Given the description of an element on the screen output the (x, y) to click on. 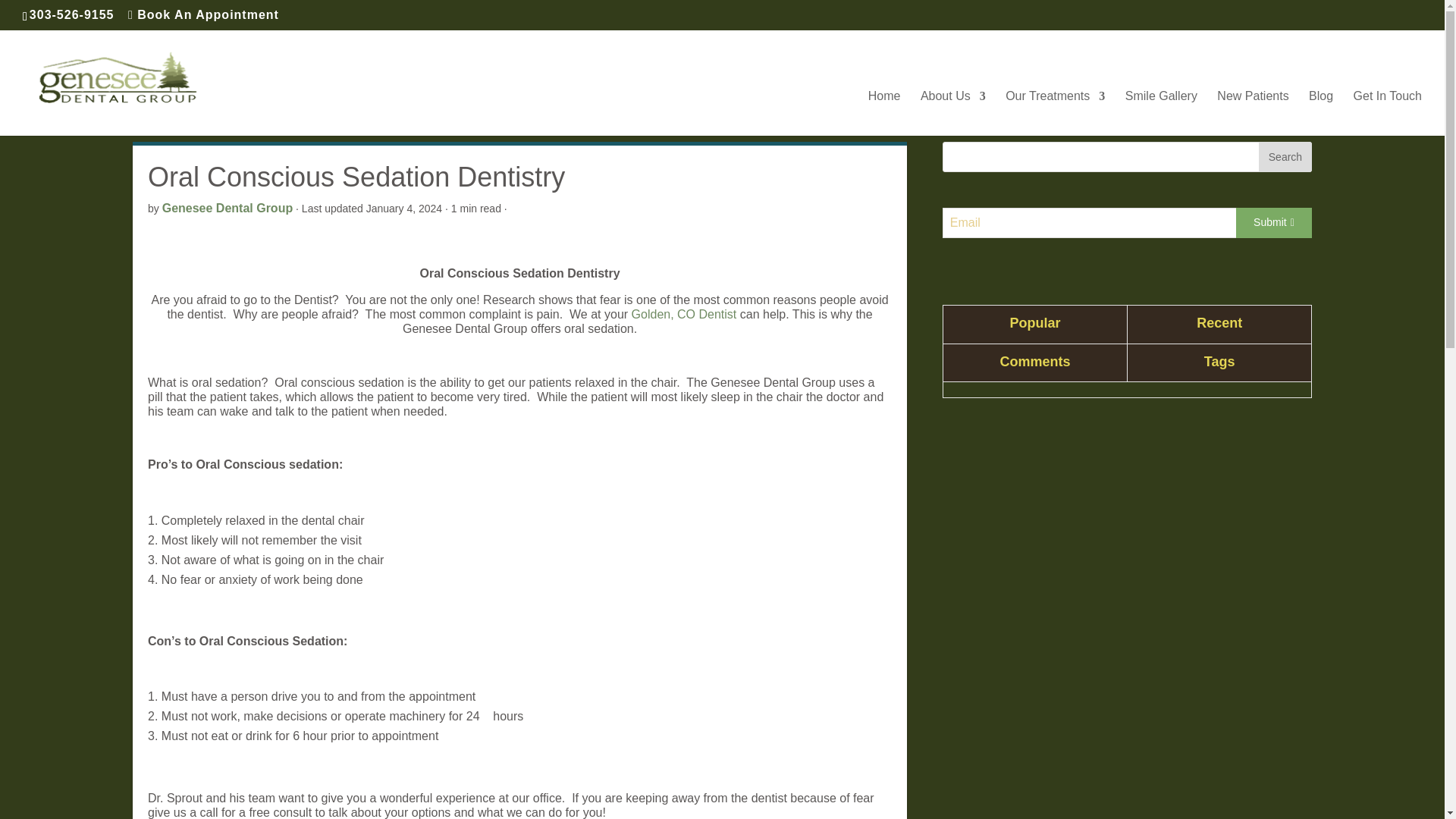
New Patients (1252, 112)
Posts by Genesee Dental Group (227, 207)
About Us (952, 112)
Comments (1034, 362)
Tags (1218, 362)
Book An Appointment (203, 14)
Oral Conscious Sedation Dentistry (683, 314)
Popular (1034, 324)
Submit (1273, 223)
Search (1285, 156)
Smile Gallery (1160, 112)
Golden, CO Dentist (683, 314)
Get In Touch (1388, 112)
Recent (1218, 324)
Search (1285, 156)
